Given the description of an element on the screen output the (x, y) to click on. 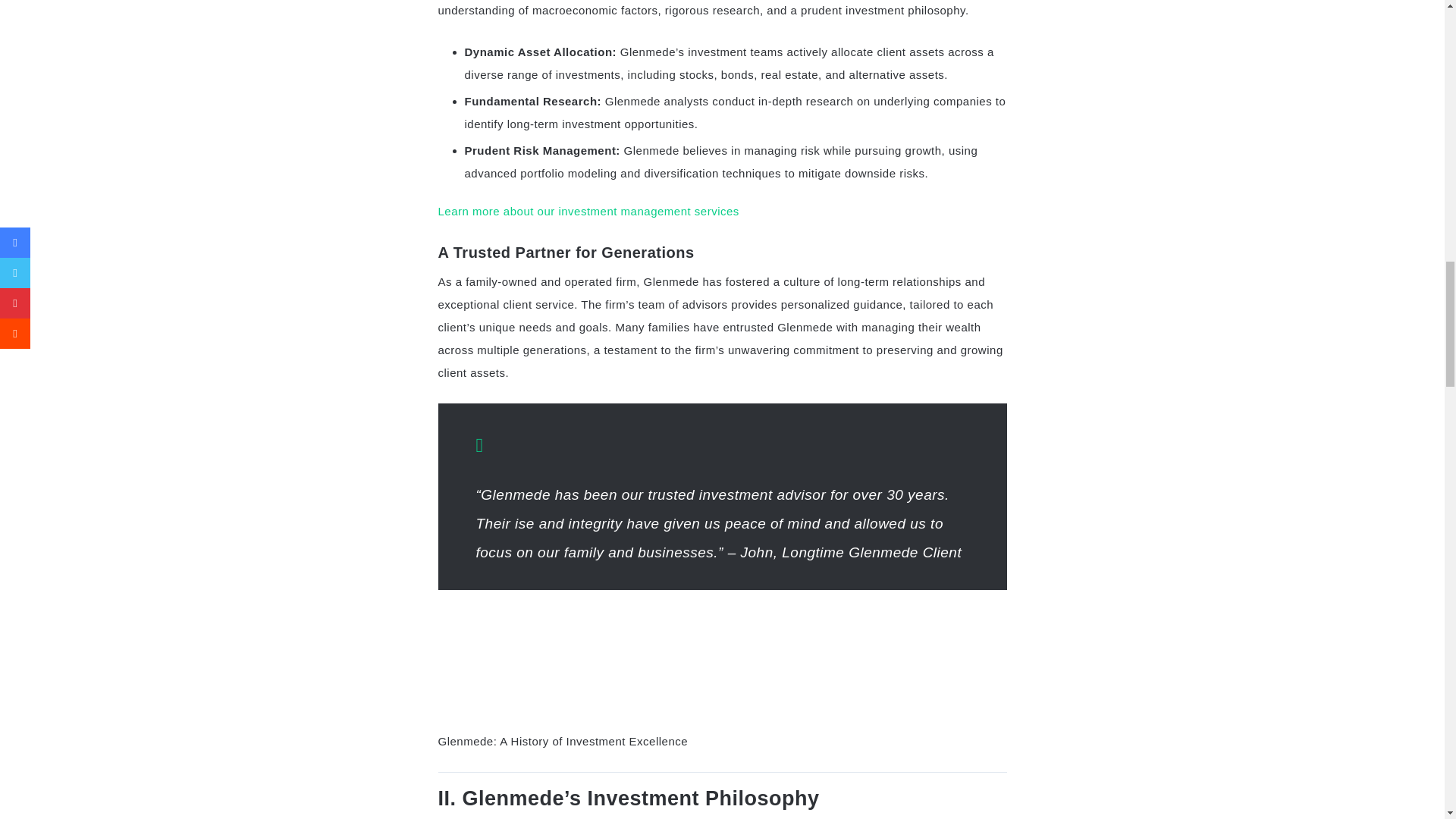
Glenmede: A History of Investment Excellence (722, 665)
Our Investment Management Services (588, 210)
